Given the description of an element on the screen output the (x, y) to click on. 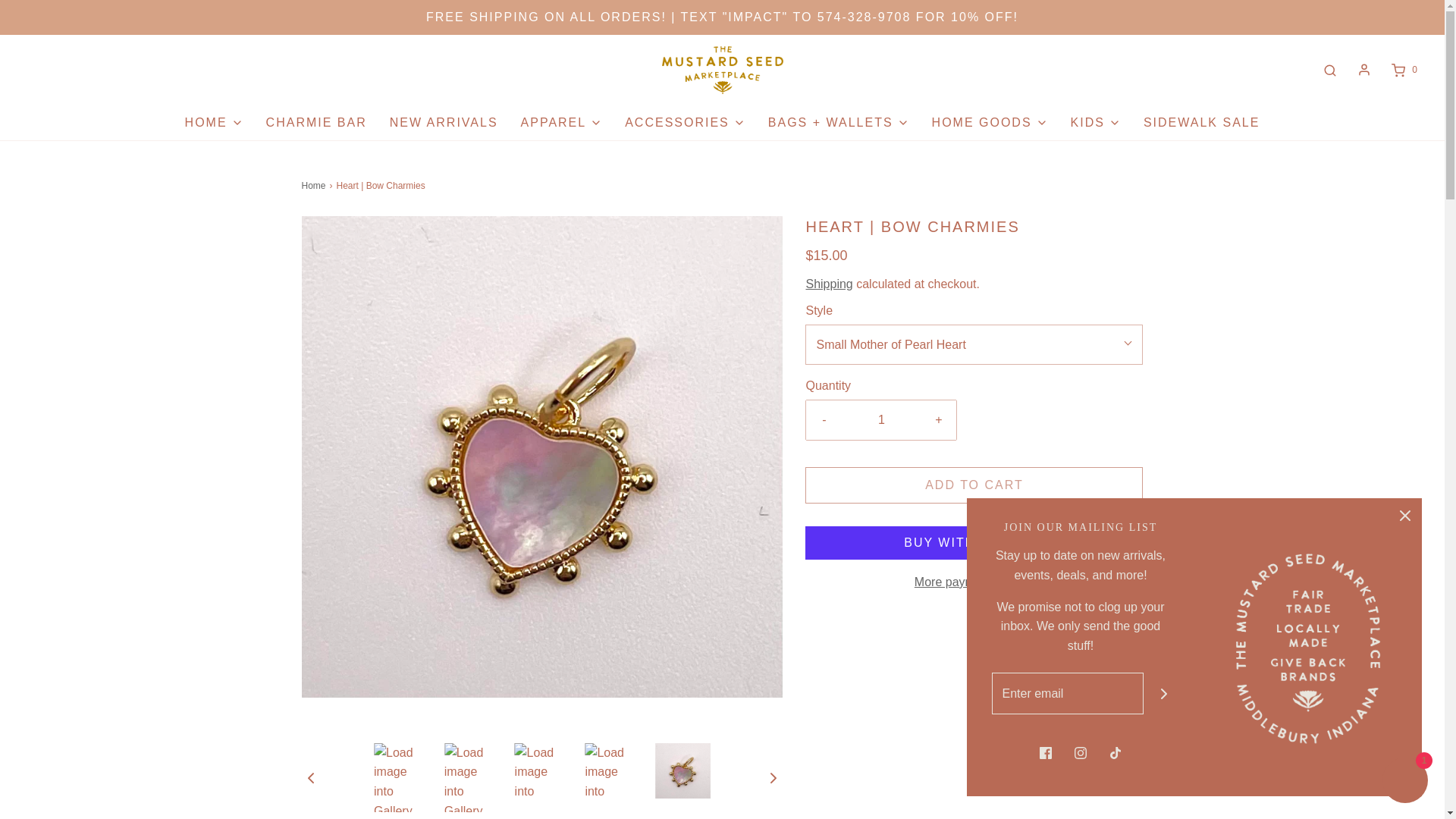
NEW ARRIVALS (443, 122)
Back to the frontpage (315, 186)
CHARMIE BAR (316, 122)
Shopify online store chat (1404, 781)
HOME (213, 122)
Cart (1403, 69)
1 (881, 419)
Search (1329, 69)
Log in (1364, 69)
0 (1403, 69)
APPAREL (561, 122)
ACCESSORIES (684, 122)
